Given the description of an element on the screen output the (x, y) to click on. 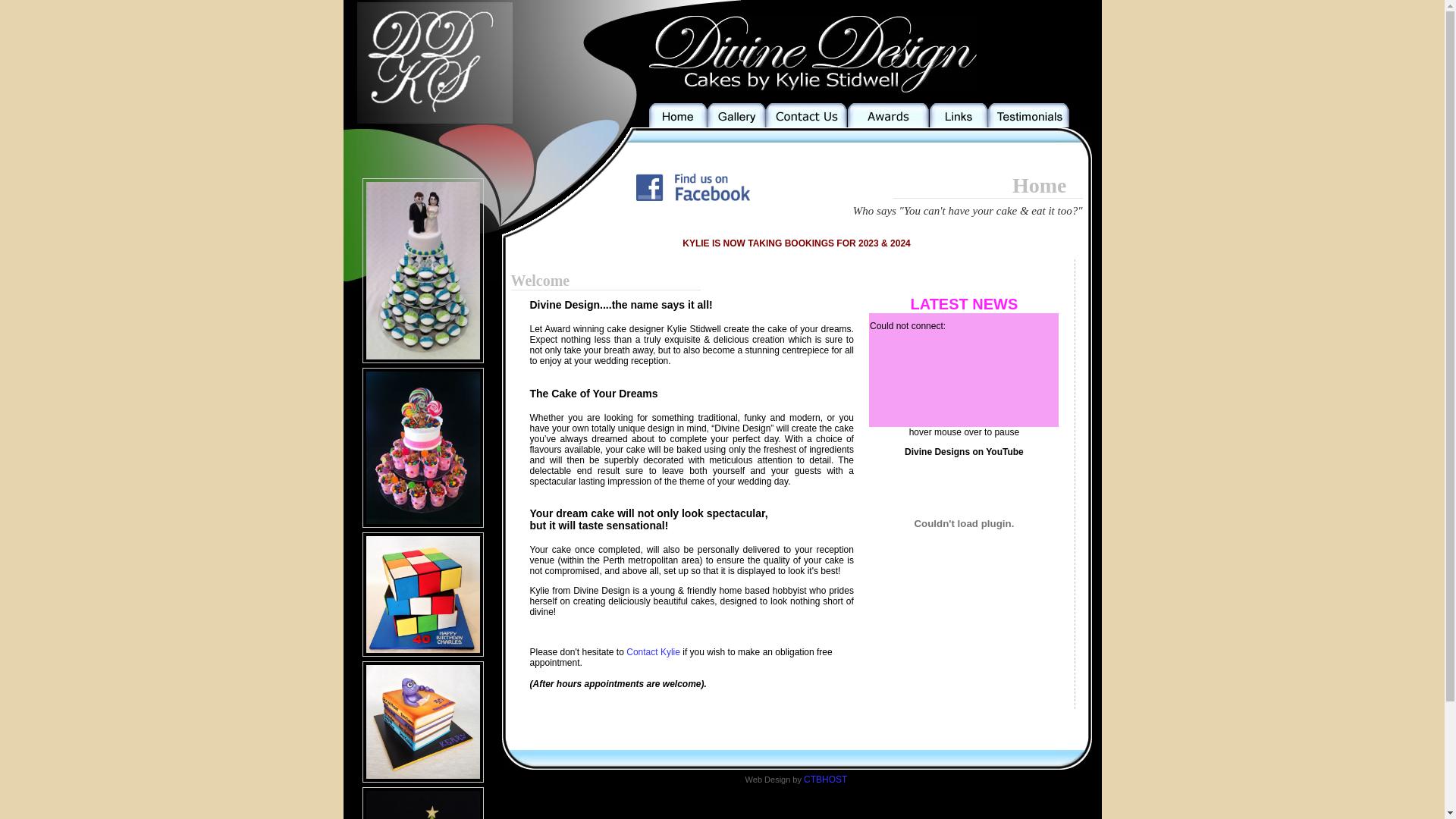
CTBHOST Element type: text (825, 779)
Contact Kylie Element type: text (653, 651)
